Given the description of an element on the screen output the (x, y) to click on. 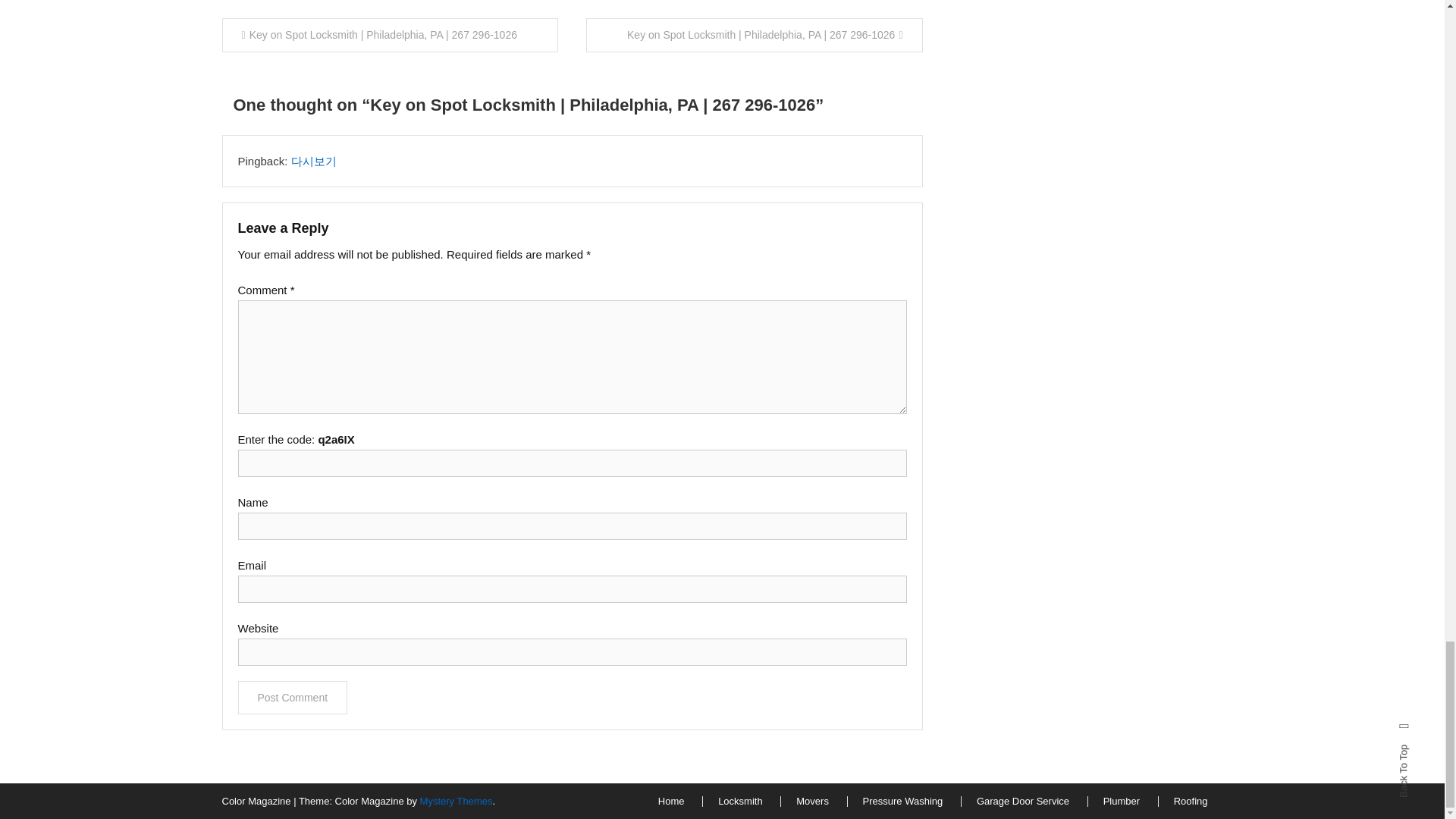
Post Comment (292, 697)
